Given the description of an element on the screen output the (x, y) to click on. 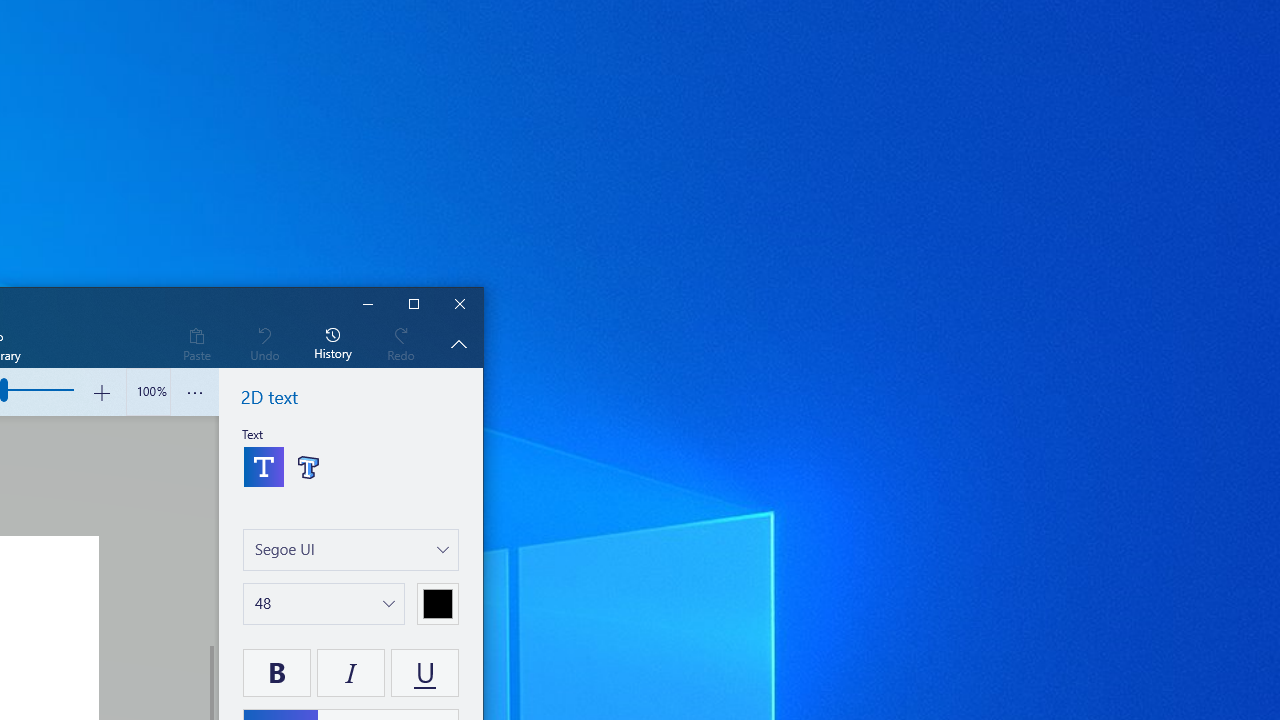
Undo (264, 343)
Zoom in (101, 391)
Vertical Large Decrease (210, 530)
2D text (264, 466)
Redo (401, 343)
Choose a font (351, 549)
48 (262, 602)
Change text size (323, 603)
Choose a color (438, 603)
View more options (194, 391)
Segoe UI (284, 548)
Bold your text (277, 672)
Zoom slider (148, 391)
